Given the description of an element on the screen output the (x, y) to click on. 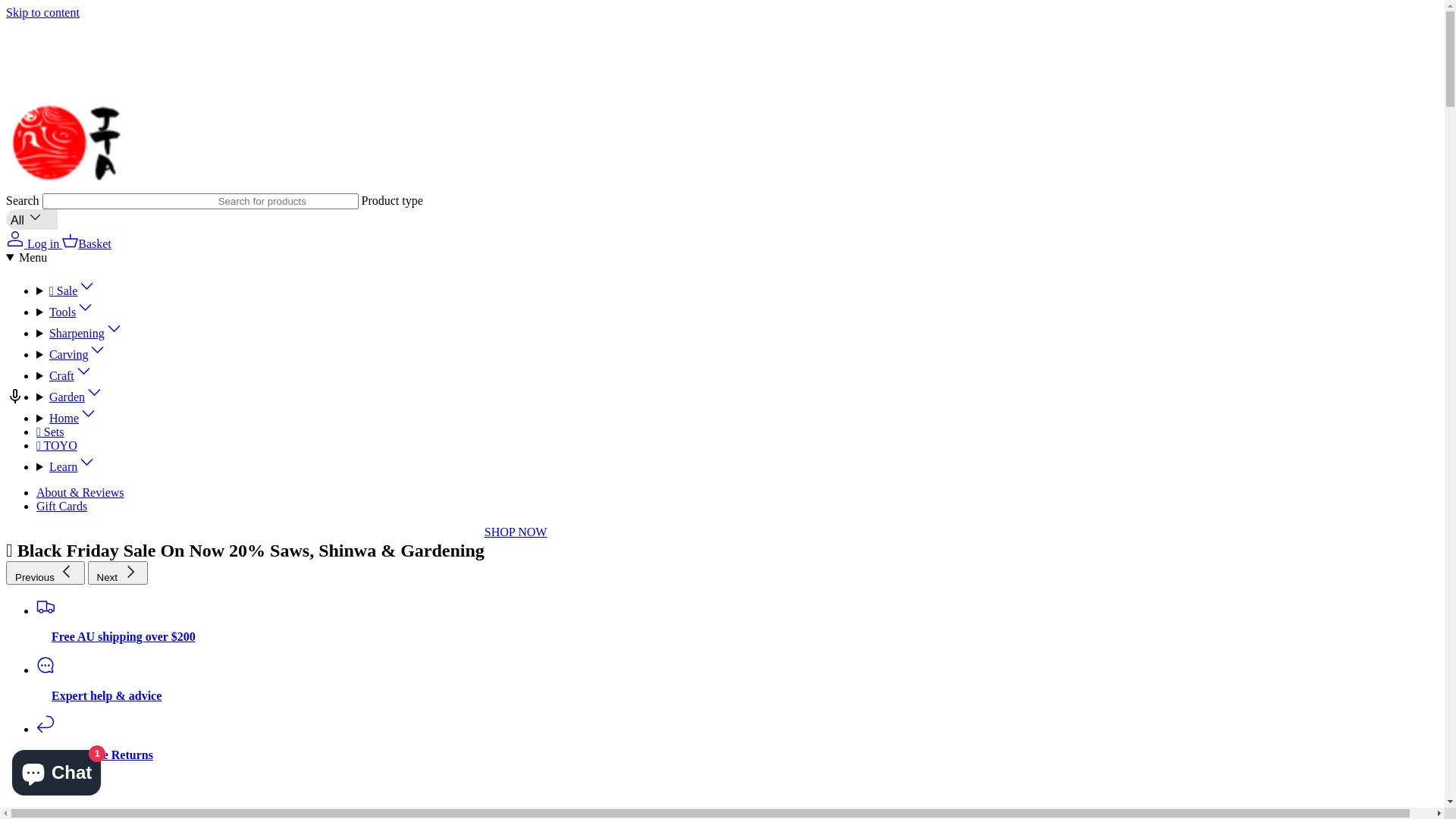
Craft Element type: text (70, 375)
Previous Element type: text (45, 572)
Garden Element type: text (76, 396)
Sharpening Element type: text (85, 332)
Shopify online store chat Element type: hover (56, 769)
Gift Cards Element type: text (61, 505)
Search by voice Element type: hover (15, 403)
SHOP NOW Element type: text (515, 531)
Learn Element type: text (72, 466)
Log in Element type: text (34, 243)
About & Reviews Element type: text (80, 492)
Skip to content Element type: text (42, 12)
Home Element type: text (73, 417)
Carving Element type: text (77, 354)
Next Element type: text (117, 572)
All Element type: text (32, 219)
Australia (AUD $) Element type: text (212, 82)
Tools Element type: text (71, 311)
